Given the description of an element on the screen output the (x, y) to click on. 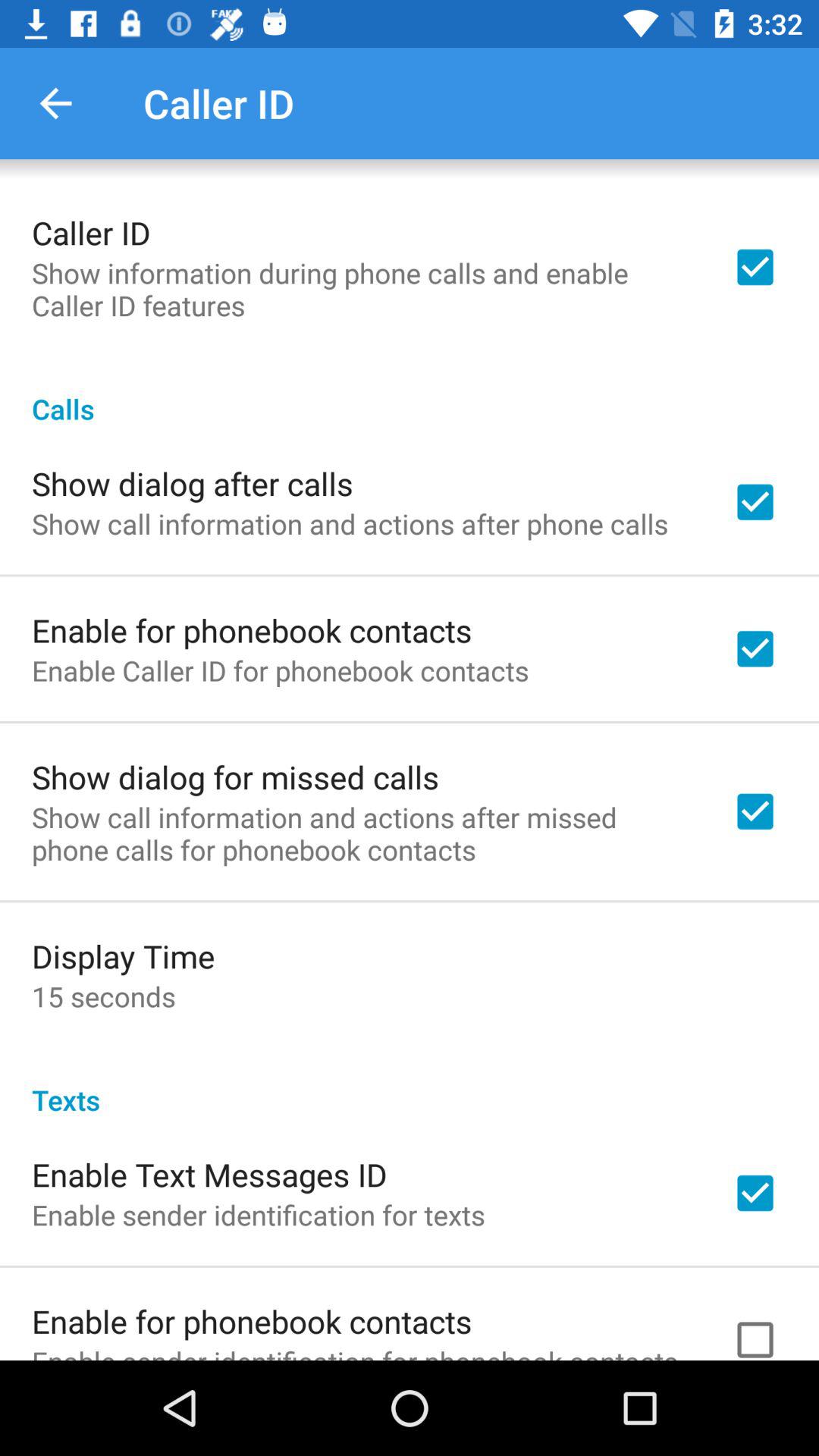
tap icon next to the caller id (55, 103)
